Given the description of an element on the screen output the (x, y) to click on. 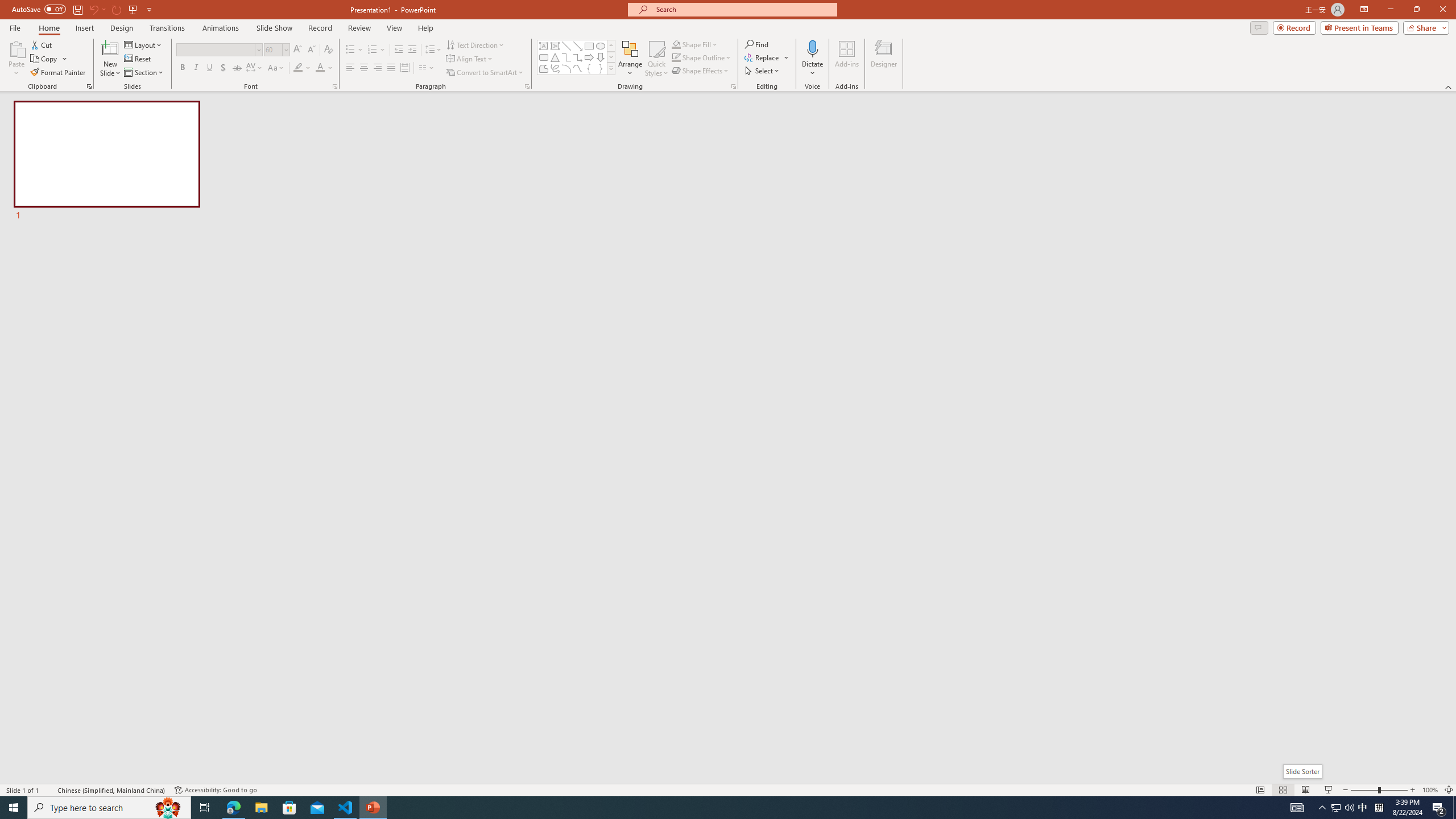
Text Highlight Color Yellow (297, 67)
Arrow: Down (600, 57)
Vertical Text Box (554, 45)
Font (215, 49)
Line Arrow (577, 45)
Font... (334, 85)
Columns (426, 67)
Increase Indent (412, 49)
Slide (106, 161)
Connector: Elbow (566, 57)
Line Spacing (433, 49)
Ribbon Display Options (1364, 9)
Dictate (812, 48)
Shadow (223, 67)
